Given the description of an element on the screen output the (x, y) to click on. 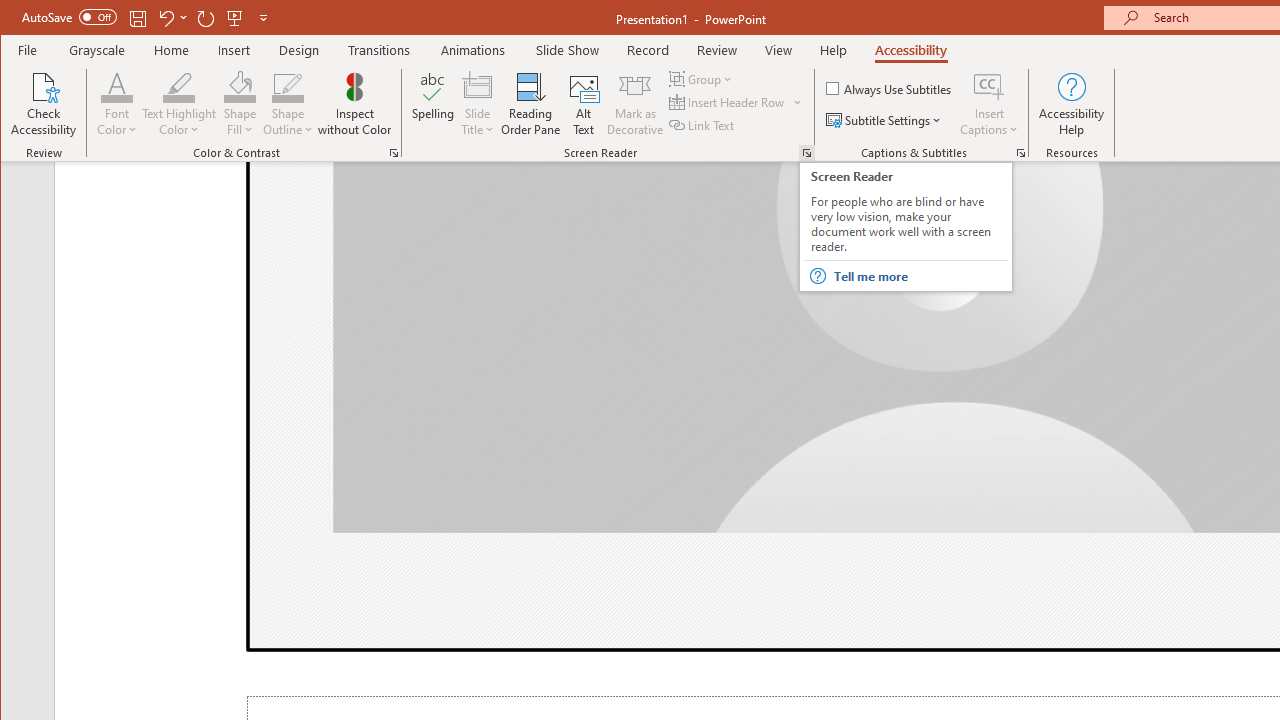
Reading Order Pane (531, 104)
Accessibility Help (1071, 104)
Mark as Decorative (635, 104)
Insert Captions (989, 104)
Captions & Subtitles (1020, 152)
Check Accessibility (43, 104)
Slide Title (477, 86)
Alt Text (584, 104)
